Given the description of an element on the screen output the (x, y) to click on. 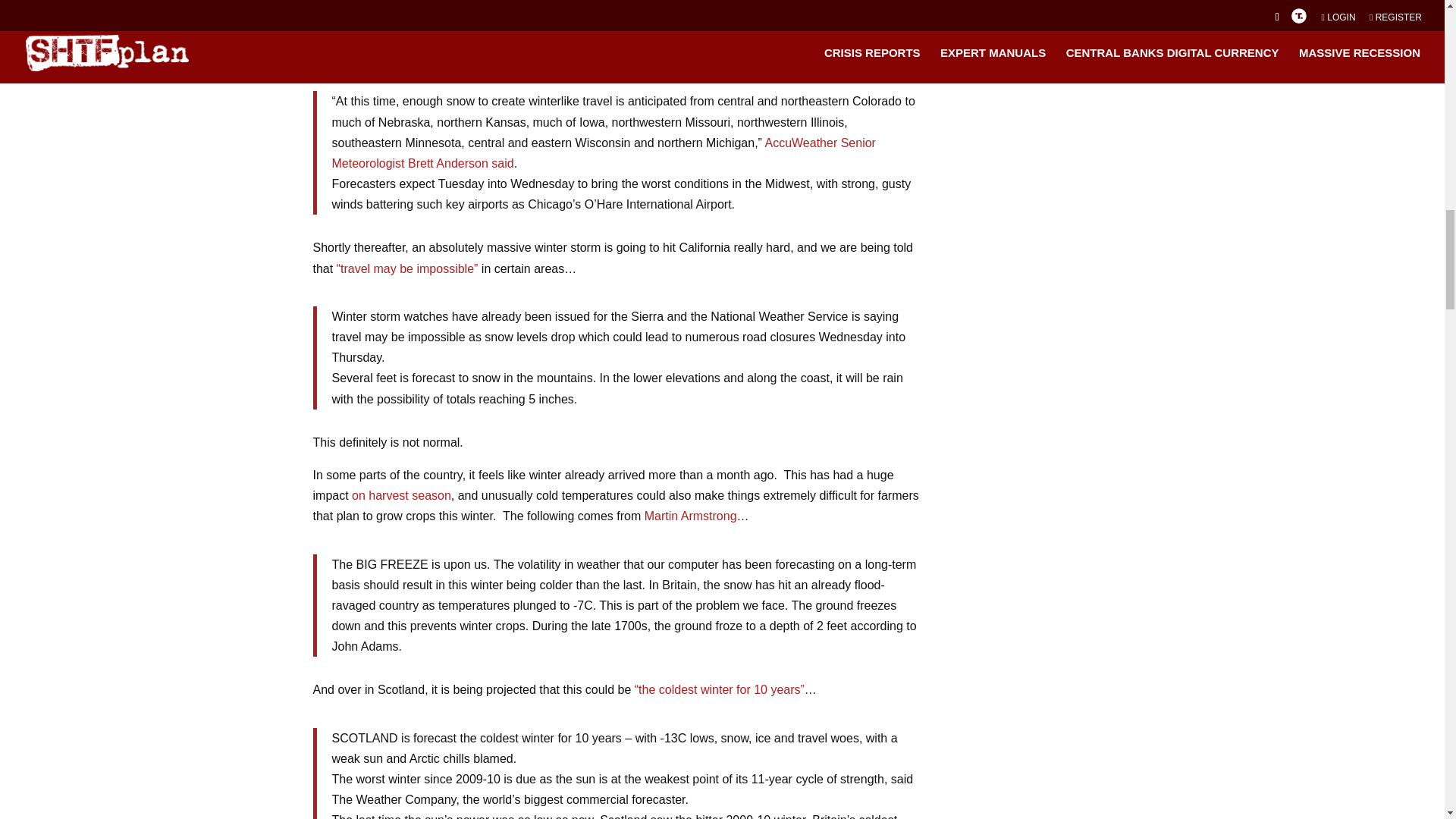
Martin Armstrong (690, 515)
AccuWeather Senior Meteorologist Brett Anderson said (603, 152)
Martin Armstrong (690, 515)
on harvest season (401, 495)
on harvest season (401, 495)
AccuWeather Senior Meteorologist Brett Anderson said (603, 152)
